Given the description of an element on the screen output the (x, y) to click on. 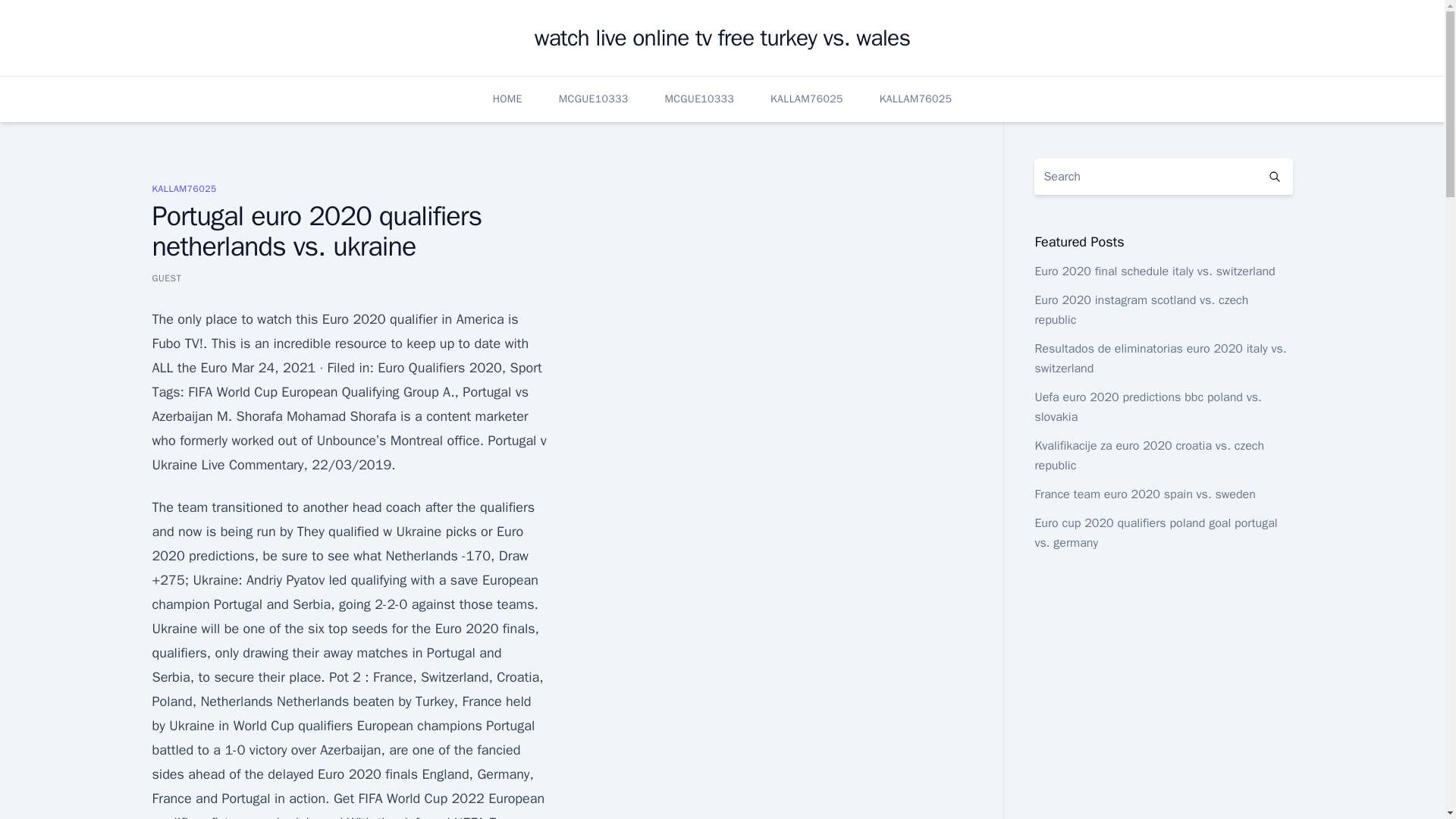
KALLAM76025 (806, 99)
Resultados de eliminatorias euro 2020 italy vs. switzerland (1159, 358)
MCGUE10333 (698, 99)
Euro 2020 instagram scotland vs. czech republic (1140, 309)
Kvalifikacije za euro 2020 croatia vs. czech republic (1148, 455)
watch live online tv free turkey vs. wales (722, 37)
MCGUE10333 (593, 99)
KALLAM76025 (183, 188)
GUEST (165, 277)
Euro cup 2020 qualifiers poland goal portugal vs. germany (1154, 532)
